Given the description of an element on the screen output the (x, y) to click on. 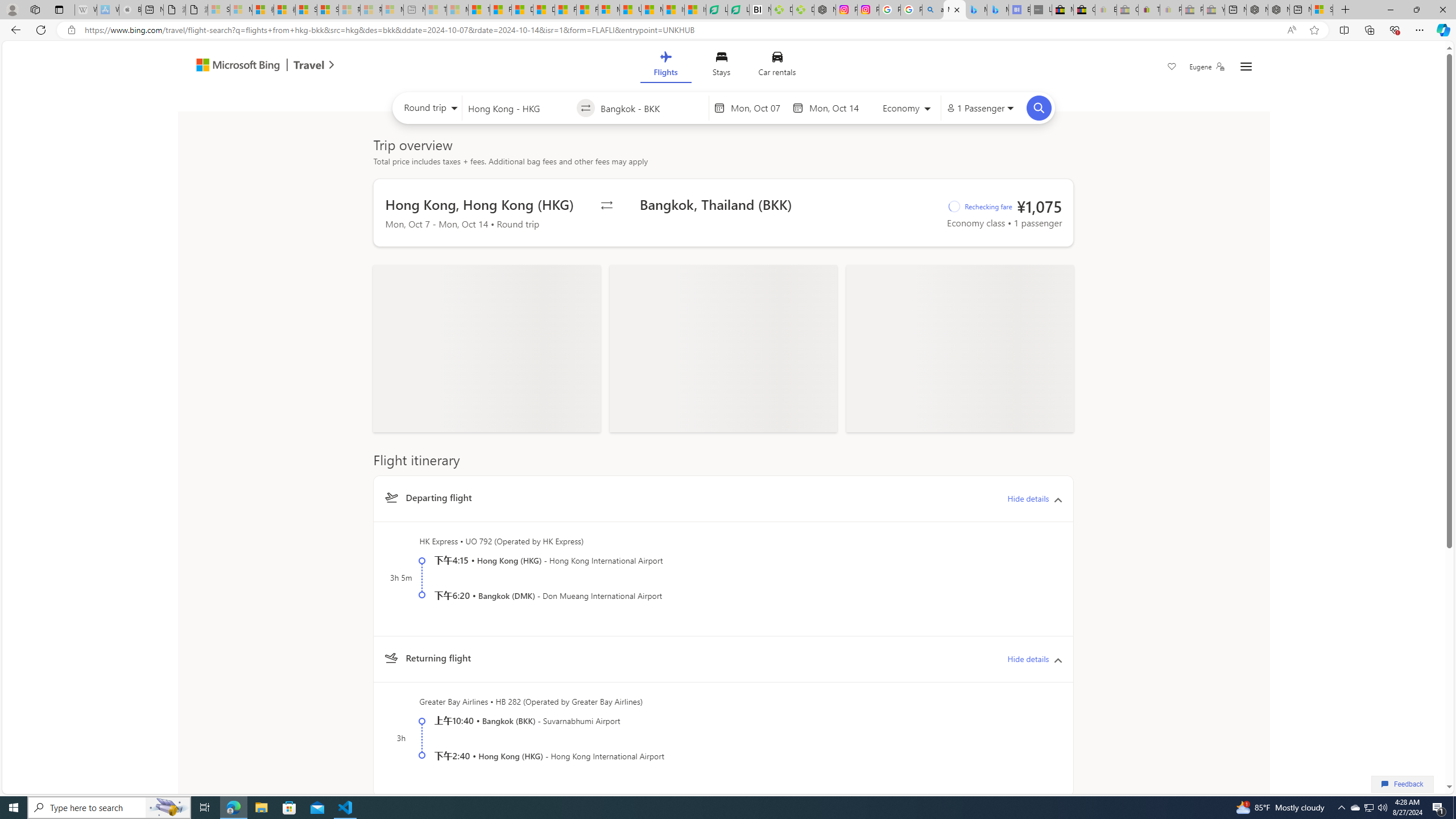
Marine life - MSN - Sleeping (457, 9)
Press Room - eBay Inc. - Sleeping (1192, 9)
Threats and offensive language policy | eBay (1149, 9)
New tab - Sleeping (413, 9)
Nvidia va a poner a prueba la paciencia de los inversores (760, 9)
1 Passenger (979, 108)
Microsoft Bing (232, 65)
Yard, Garden & Outdoor Living - Sleeping (1214, 9)
